Given the description of an element on the screen output the (x, y) to click on. 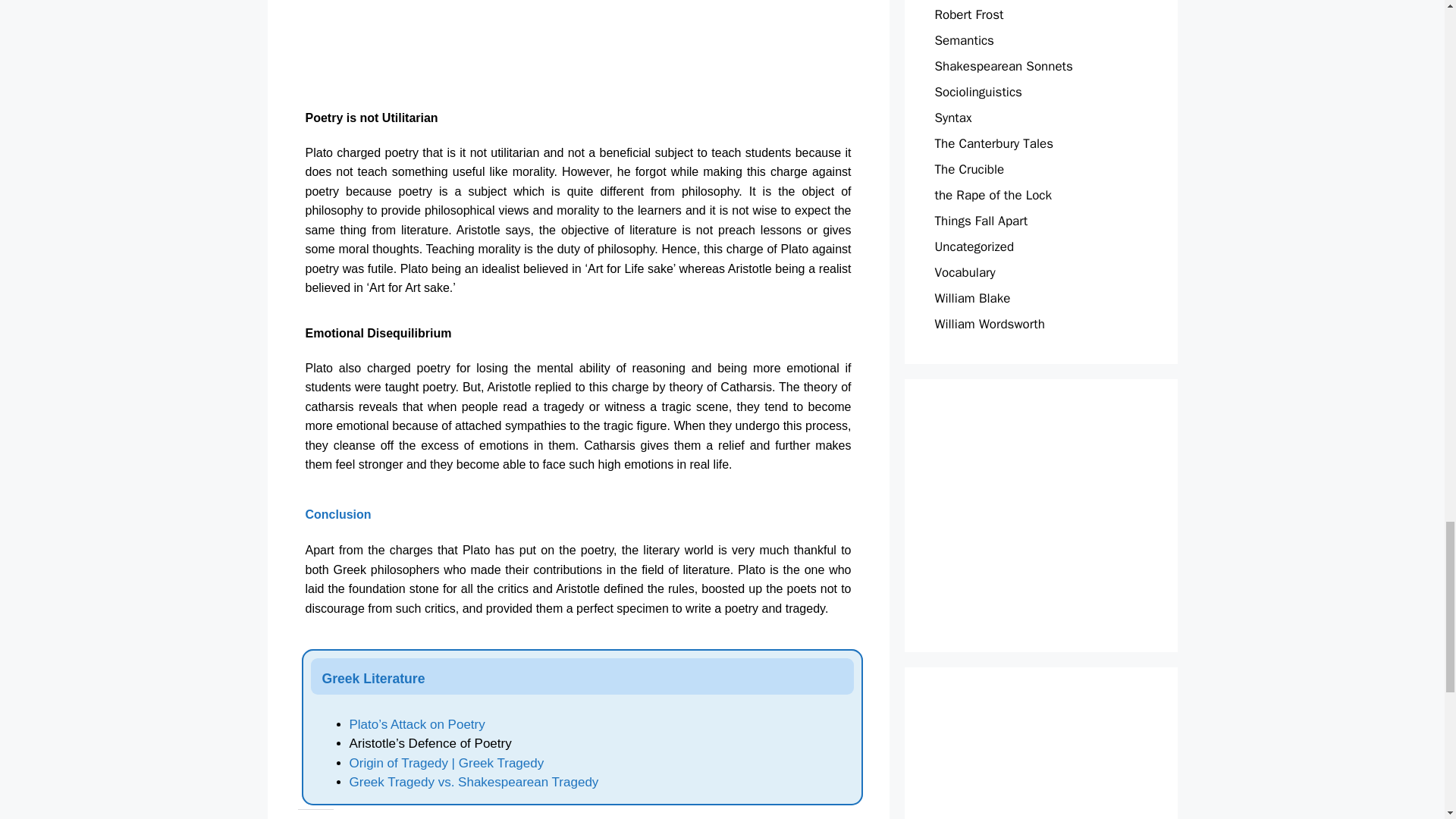
Advertisement (598, 47)
Advertisement (1063, 515)
Greek Tragedy vs. Shakespearean Tragedy (473, 781)
